Given the description of an element on the screen output the (x, y) to click on. 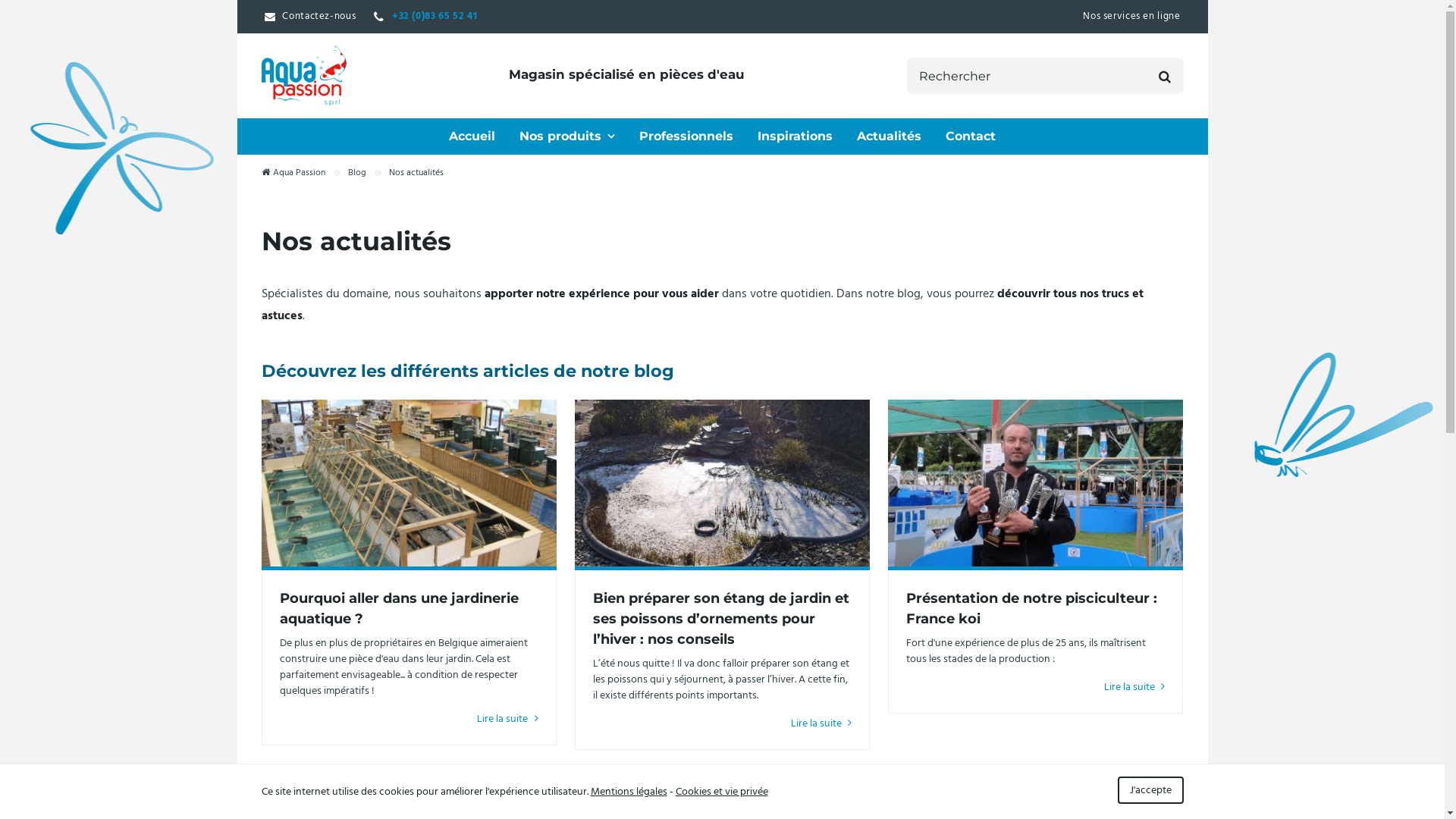
Nos produits Element type: text (567, 136)
+32 (0)83 65 52 41 Element type: text (425, 16)
Pourquoi aller dans une jardinerie aquatique ? Element type: hover (407, 482)
Blog Element type: text (357, 172)
Contact Element type: text (970, 136)
Lire la suite Element type: text (1134, 687)
Lire la suite Element type: text (507, 719)
Aqua Passion Element type: text (292, 172)
Accueil Element type: text (471, 136)
Contactez-nous Element type: text (309, 16)
Professionnels Element type: text (686, 136)
Aqua Passion Element type: hover (302, 75)
J'accepte Element type: text (1150, 789)
Pourquoi aller dans une jardinerie aquatique ? Element type: text (398, 608)
Nos services en ligne Element type: text (1131, 16)
Lire la suite Element type: text (821, 723)
Inspirations Element type: text (794, 136)
